Given the description of an element on the screen output the (x, y) to click on. 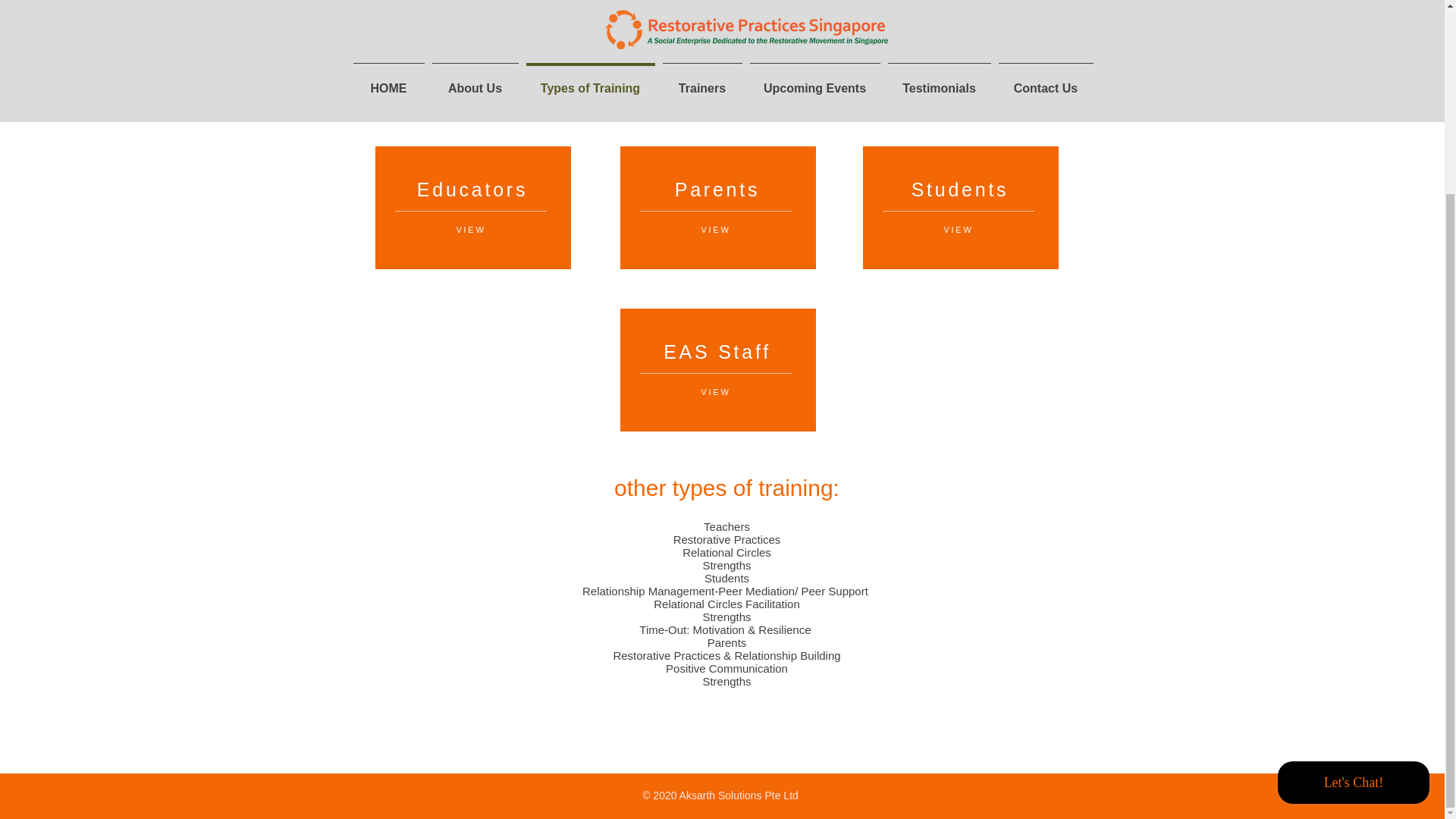
VIEW (715, 391)
VIEW (469, 229)
VIEW (715, 229)
Students (960, 189)
Educators (471, 189)
VIEW (957, 229)
Parents (717, 189)
EAS Staff (717, 351)
